Given the description of an element on the screen output the (x, y) to click on. 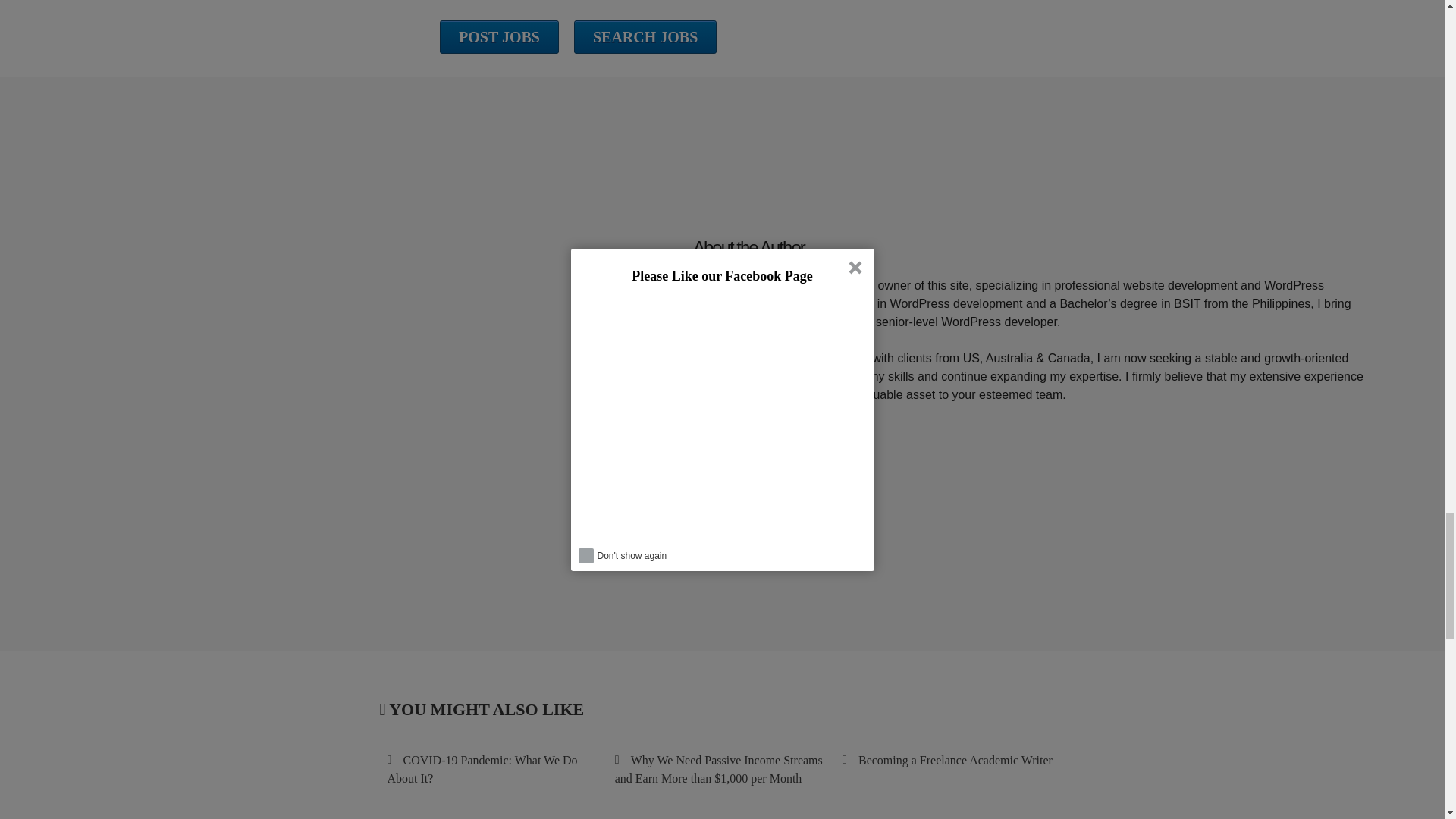
SEARCH JOBS (644, 37)
POST JOBS (499, 37)
